Given the description of an element on the screen output the (x, y) to click on. 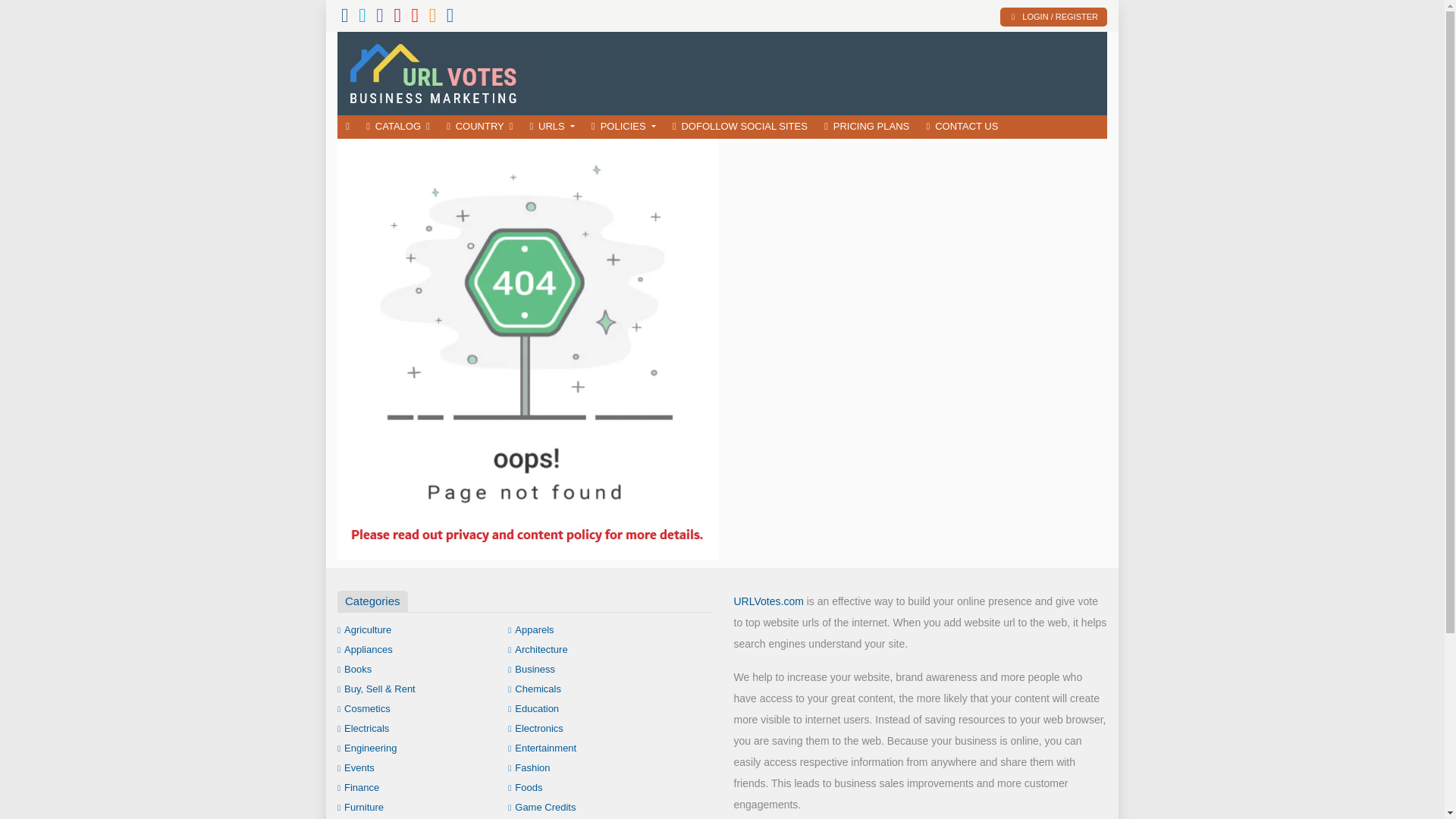
URLS (552, 126)
Instagram (379, 18)
Pinterest (397, 18)
Linked In (450, 18)
RSS Feed (432, 18)
Facebook (344, 18)
COUNTRY (479, 126)
Twitter (362, 18)
HOME (347, 126)
CATALOG (398, 126)
YouTube (414, 18)
Social Media Platform to Improve Your Brand Popularity (447, 71)
